Given the description of an element on the screen output the (x, y) to click on. 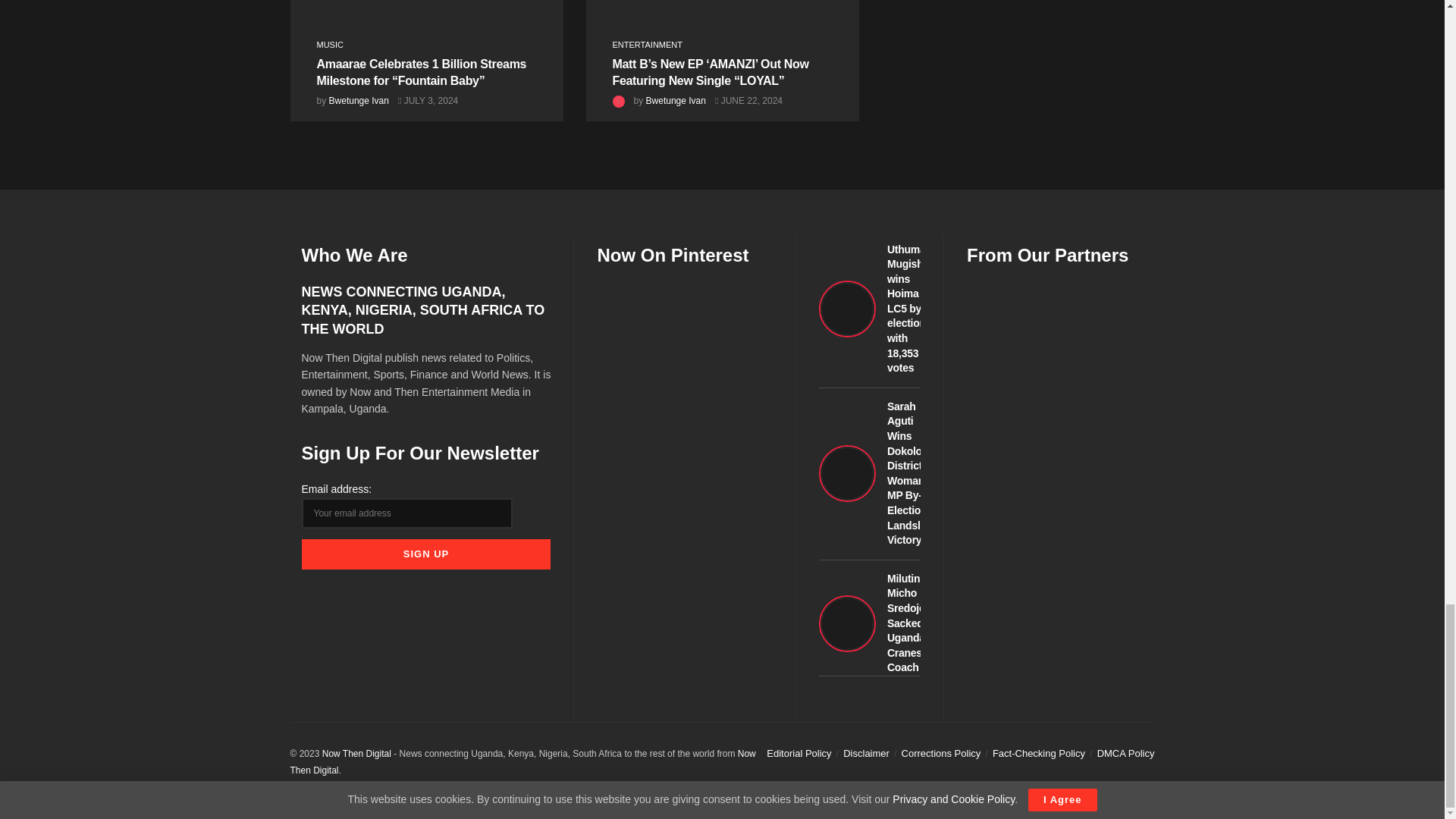
Now Then Digital (356, 753)
Sign up (426, 553)
Milutin Micho Sredojevic Sacked as Uganda Cranes Coach (869, 623)
